Given the description of an element on the screen output the (x, y) to click on. 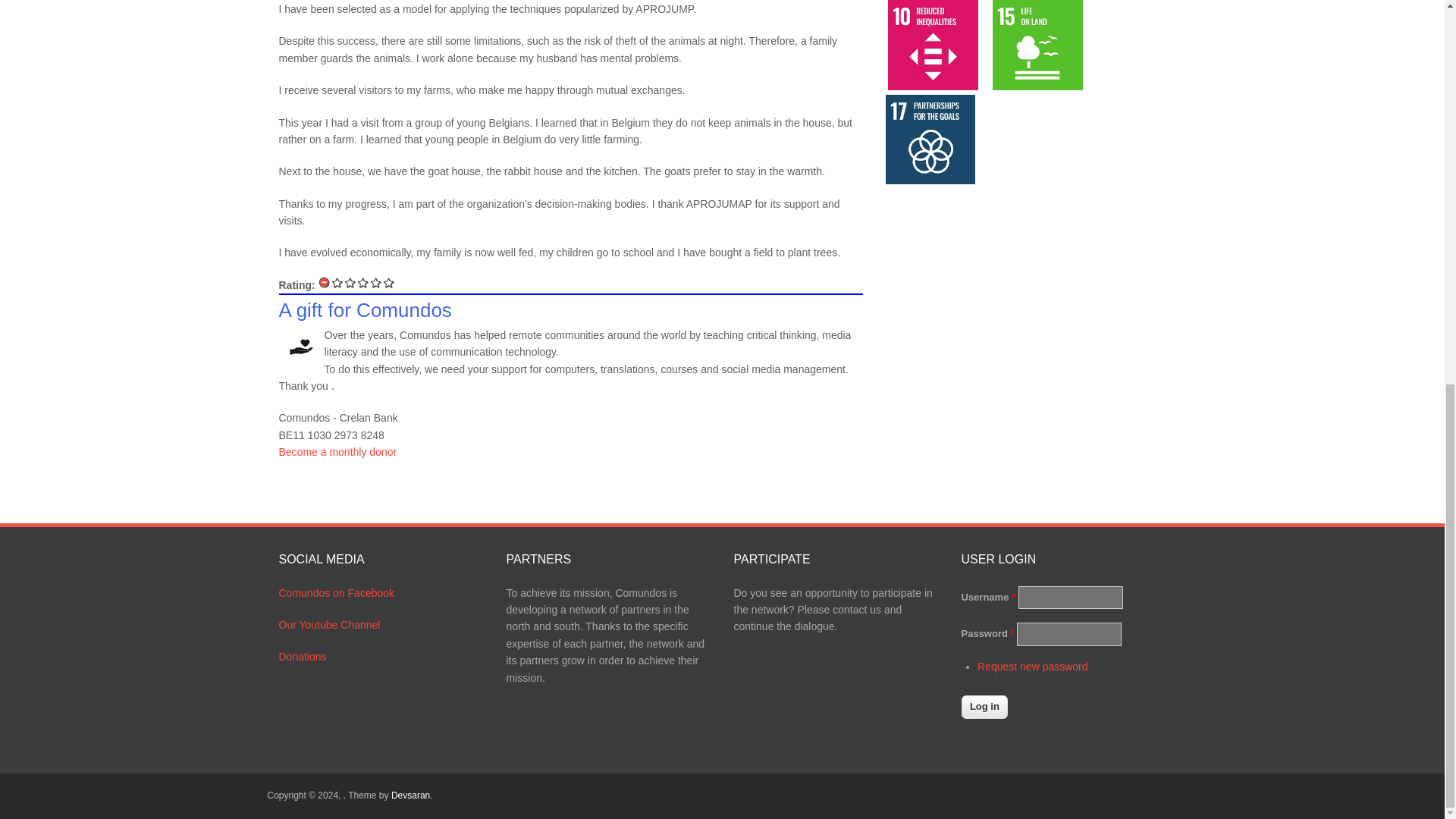
Log in (984, 707)
